Given the description of an element on the screen output the (x, y) to click on. 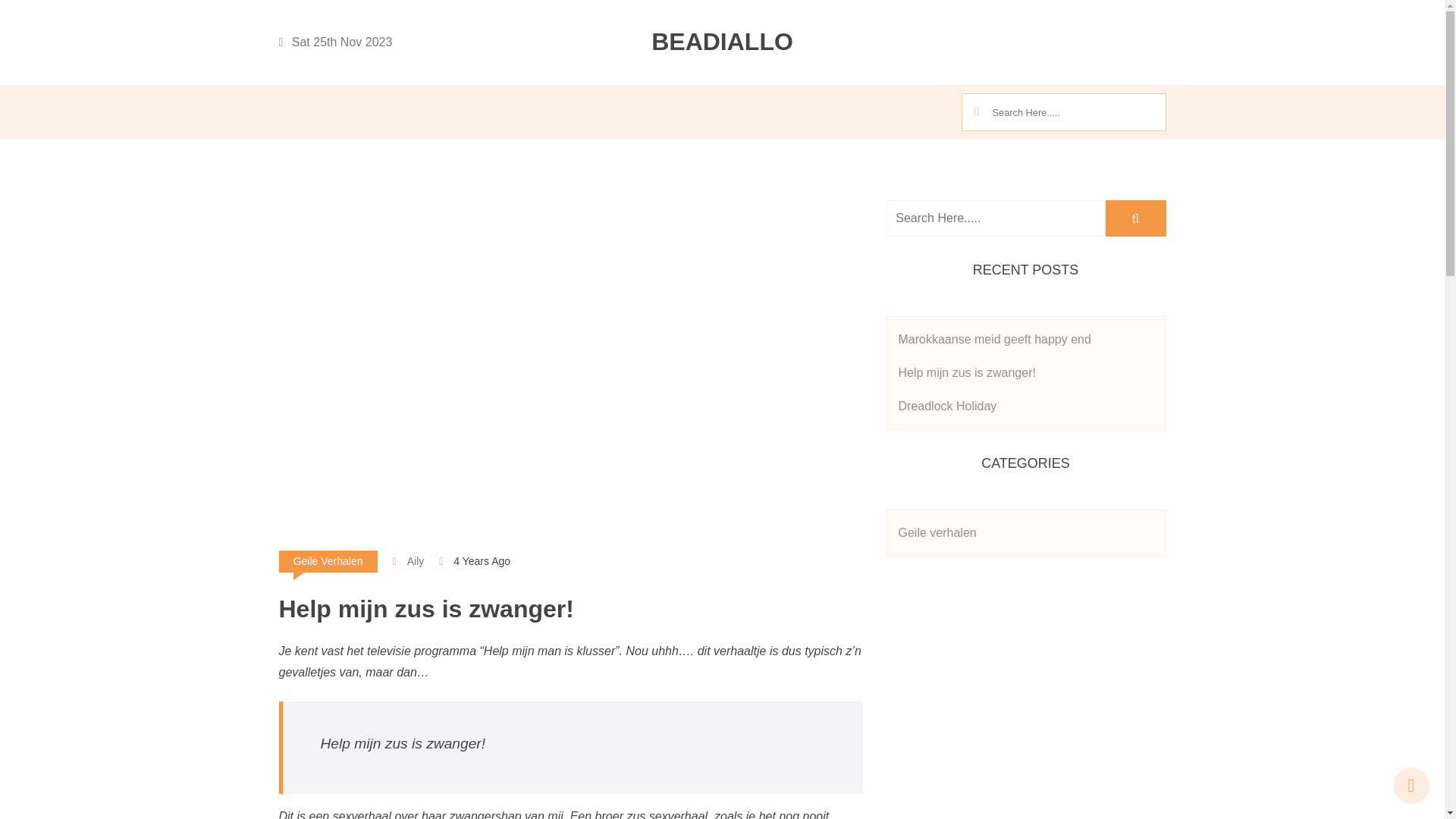
Help mijn zus is zwanger! Element type: text (966, 372)
Aily Element type: text (408, 560)
Geile Verhalen Element type: text (328, 561)
Marokkaanse meid geeft happy end Element type: text (993, 338)
Dreadlock Holiday Element type: text (946, 405)
BEADIALLO Element type: text (722, 41)
4 Years Ago Element type: text (481, 561)
Geile verhalen Element type: text (936, 532)
